Given the description of an element on the screen output the (x, y) to click on. 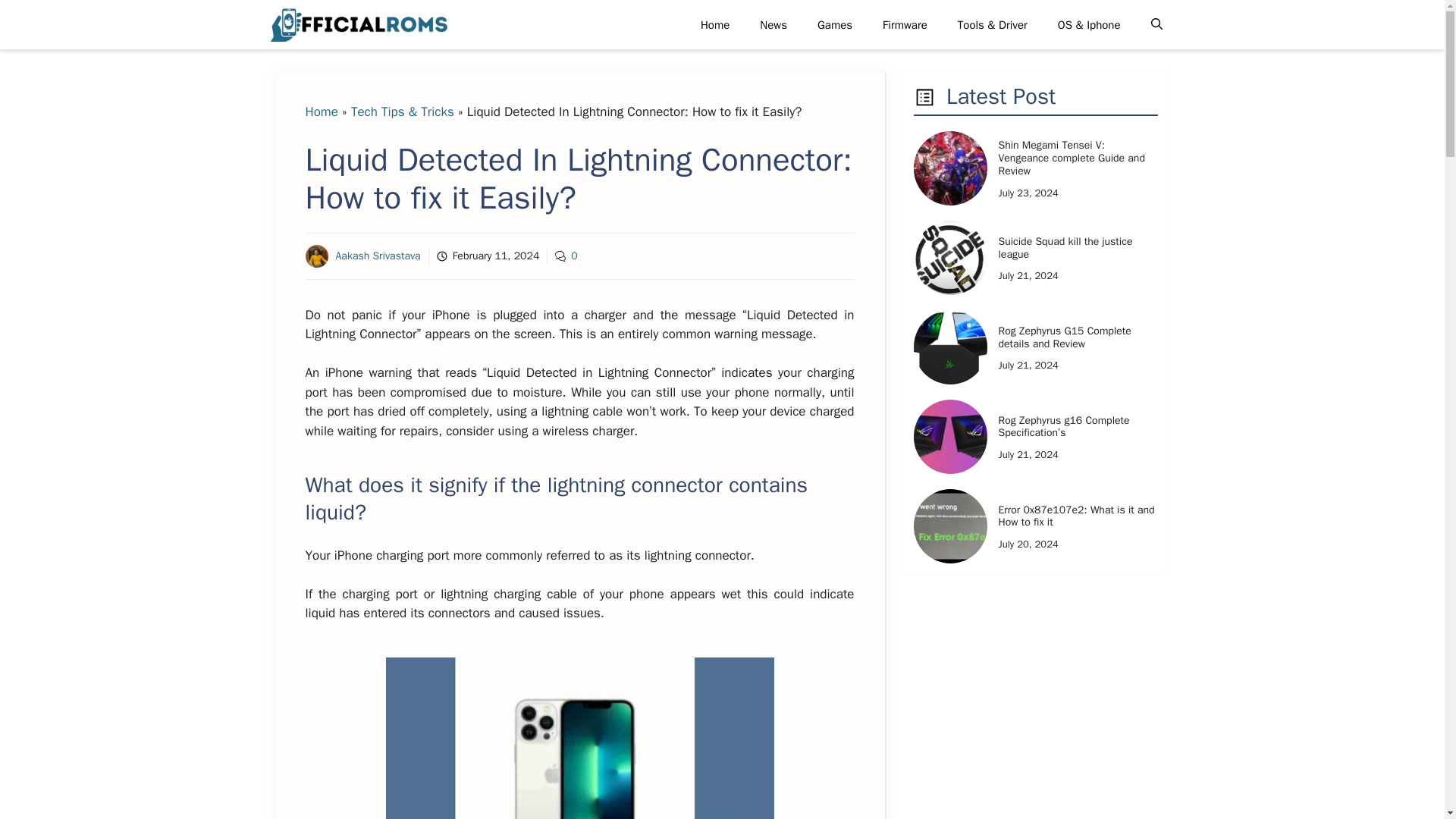
Games (834, 23)
Home (714, 23)
News (773, 23)
Officialroms (357, 24)
Firmware (904, 23)
Aakash Srivastava (377, 255)
Home (320, 111)
